Given the description of an element on the screen output the (x, y) to click on. 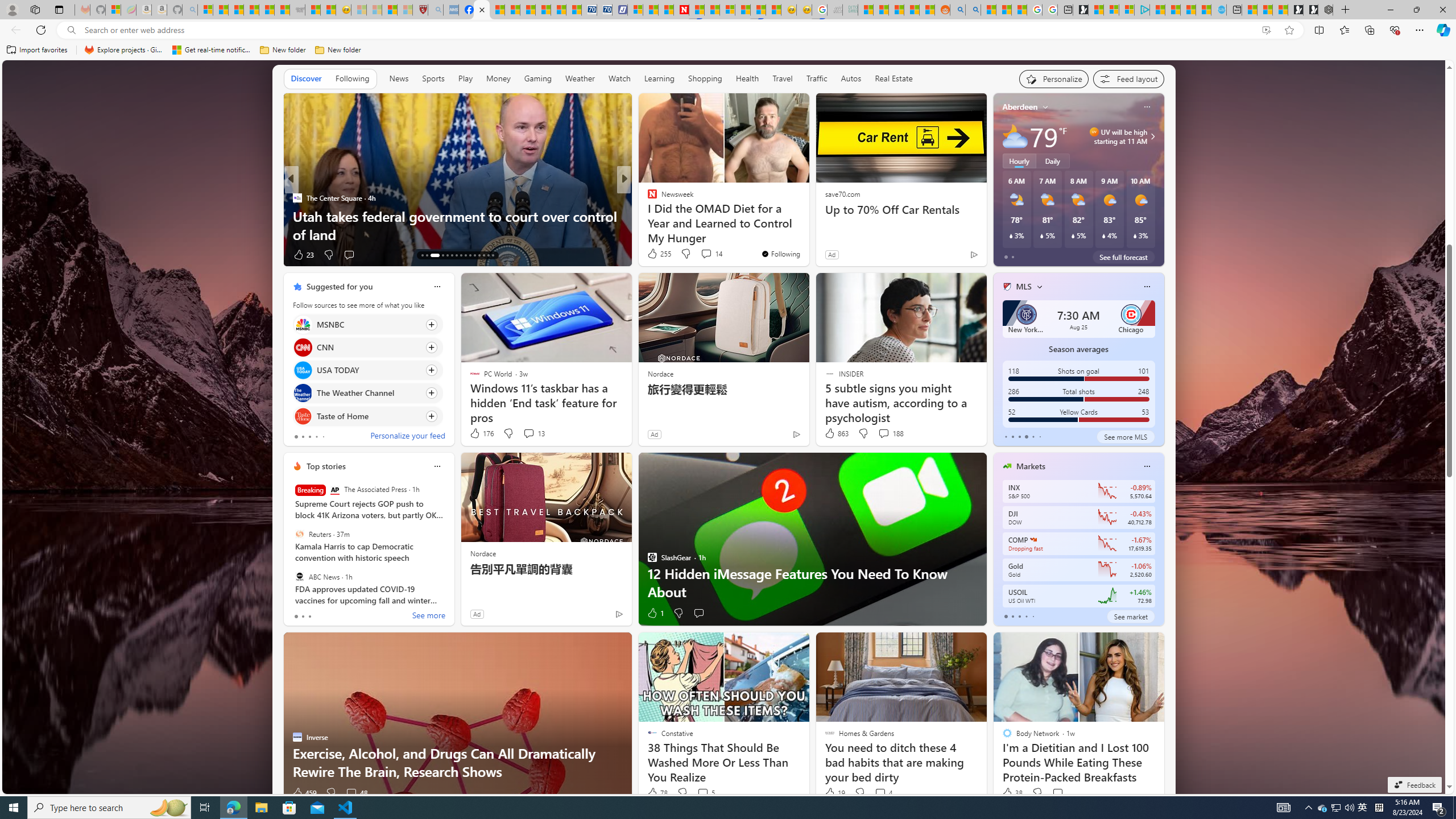
Student Loan Update: Forgiveness Program Ends This Month (911, 9)
MLS (1024, 286)
News Nation (647, 215)
Mostly cloudy (1014, 136)
99 Like (652, 254)
317 Like (654, 254)
View comments 228 Comment (698, 254)
